Given the description of an element on the screen output the (x, y) to click on. 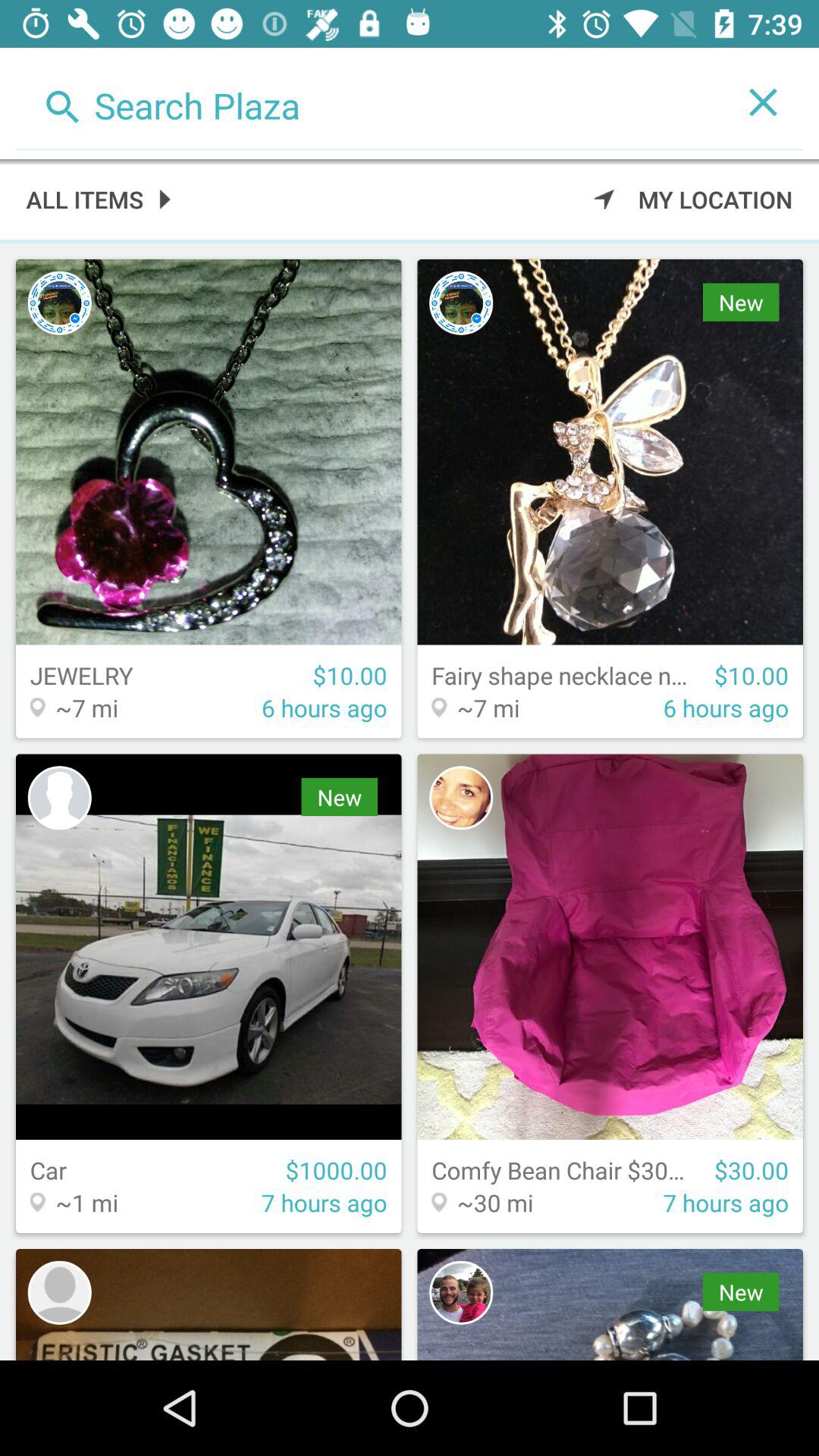
go to contact picture (461, 797)
